Given the description of an element on the screen output the (x, y) to click on. 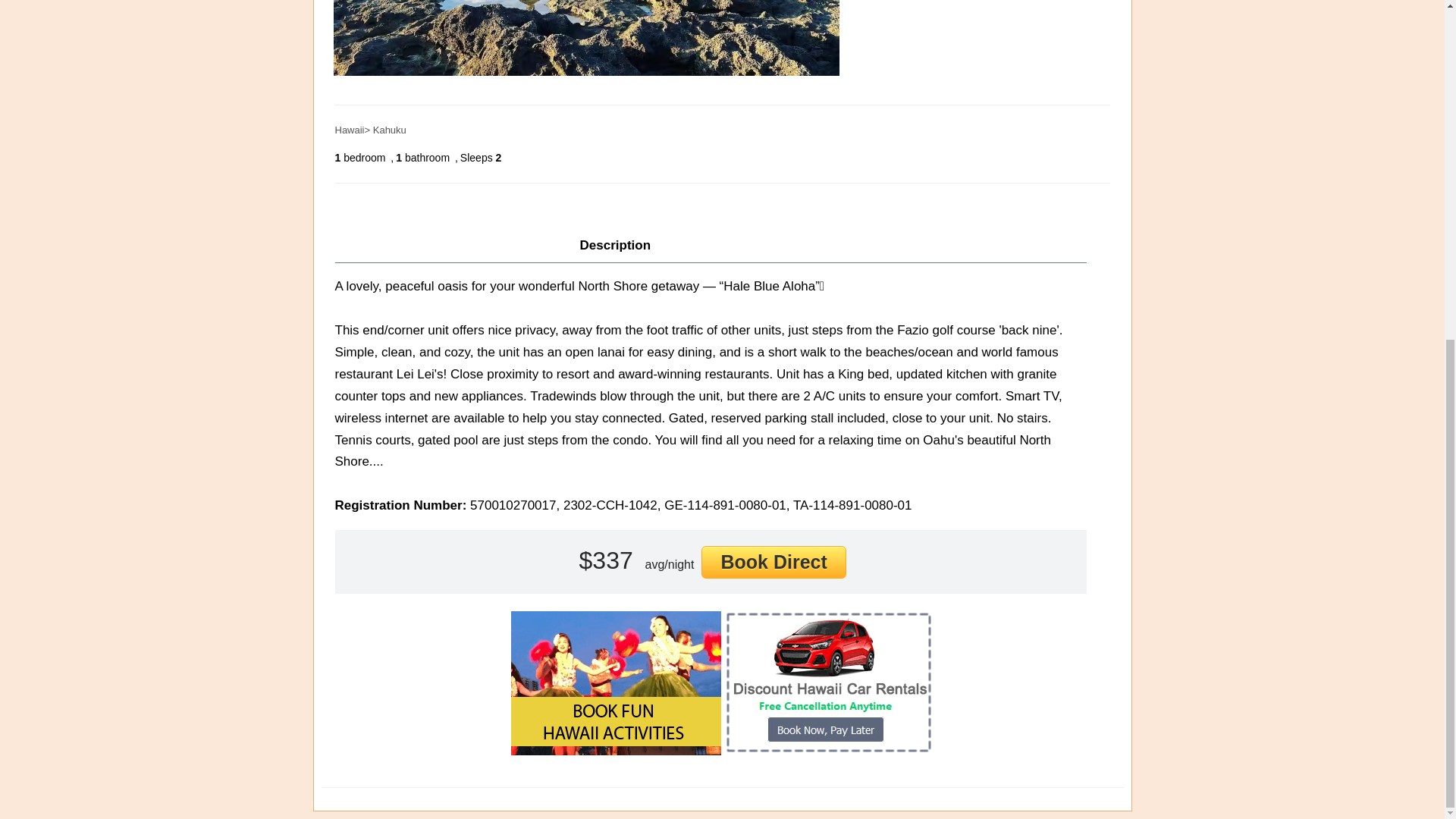
Book Direct (773, 562)
Description (615, 245)
Photos (815, 245)
Map (758, 245)
Reviews (698, 245)
